Given the description of an element on the screen output the (x, y) to click on. 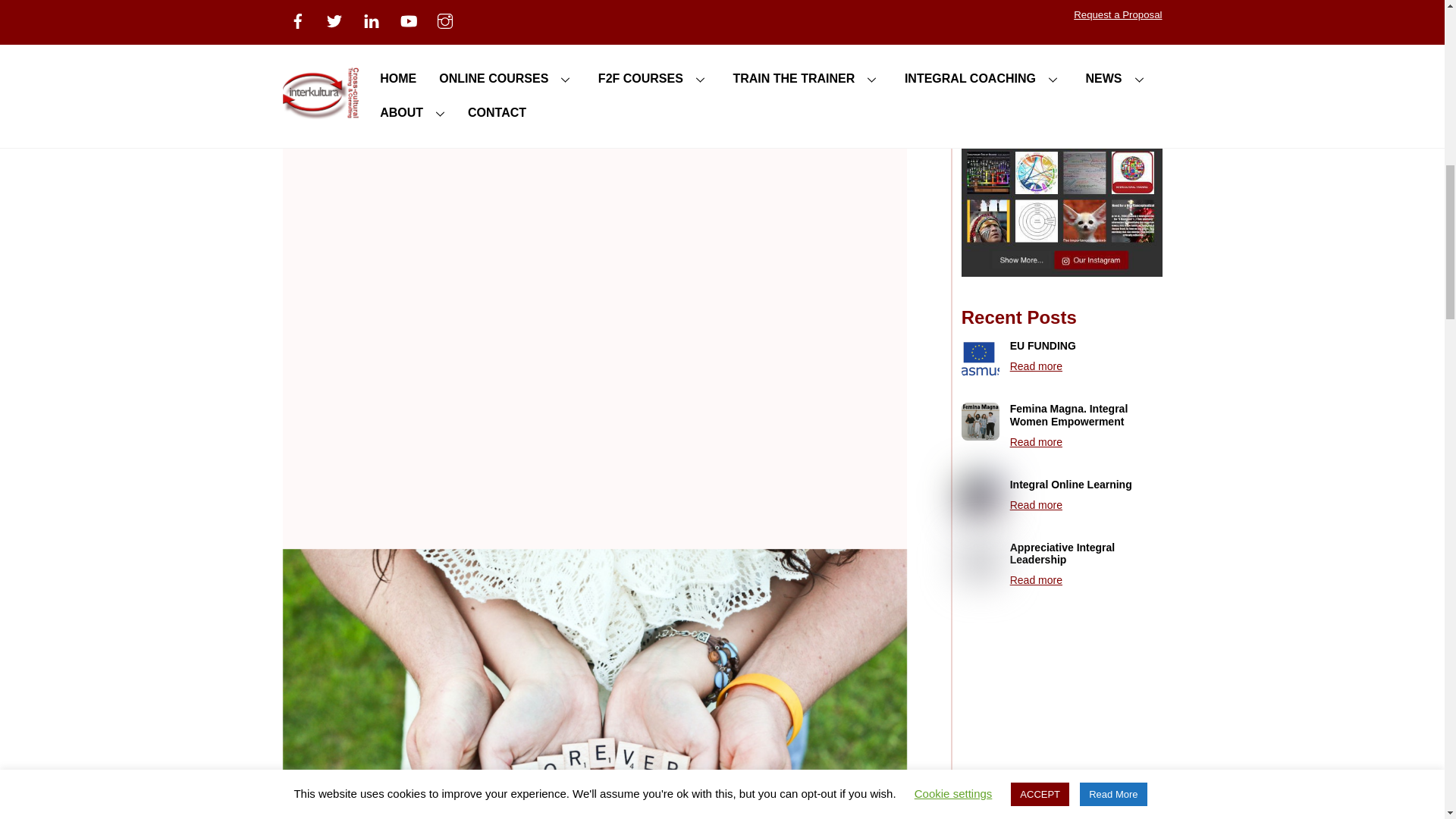
ian-schneider-TamMbr4okv4-unsplash (979, 560)
Erasmus plus course (979, 358)
Femina Magna (979, 421)
